Given the description of an element on the screen output the (x, y) to click on. 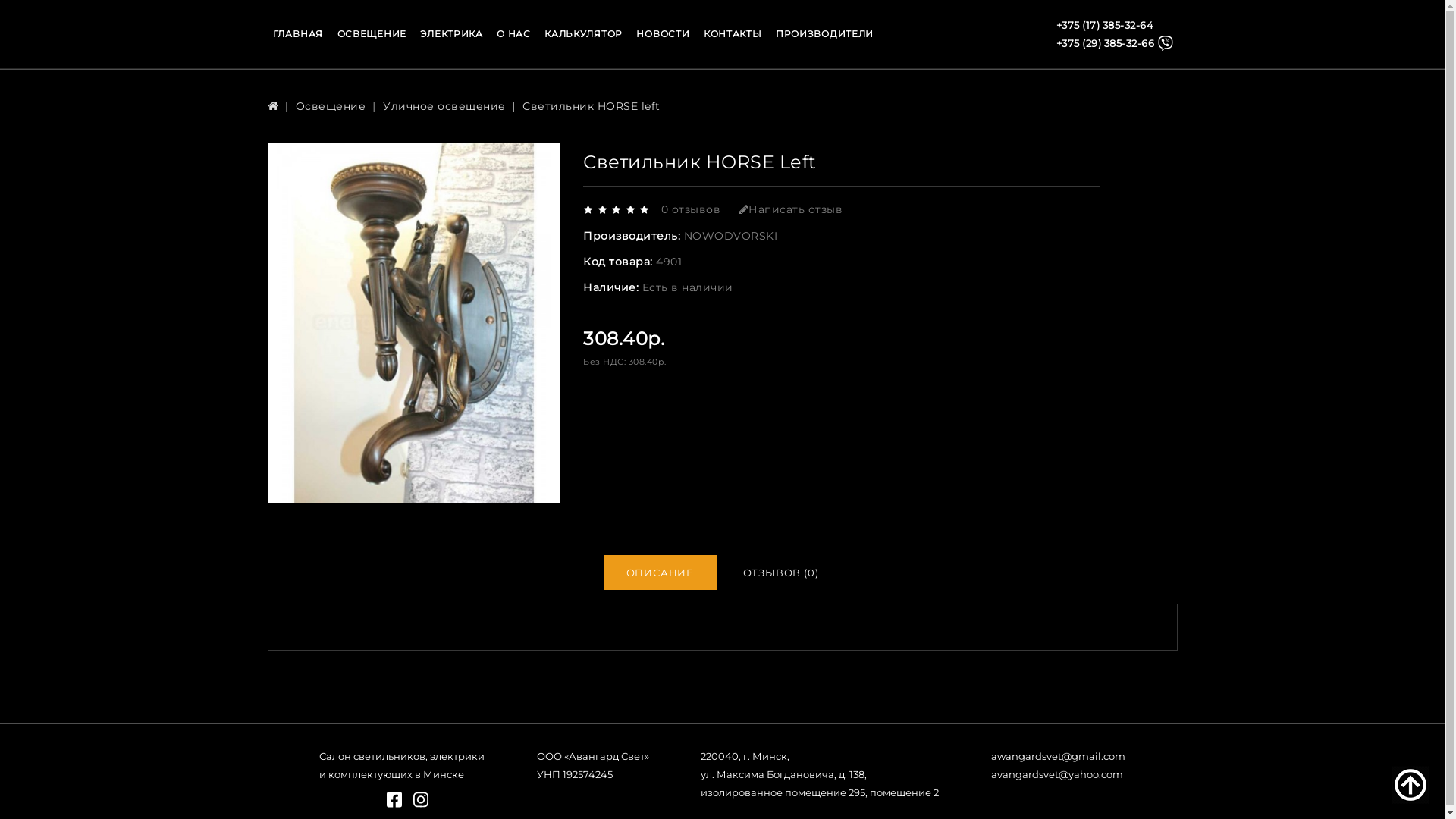
awangardsvet@gmail.com Element type: text (1058, 755)
avangardsvet@yahoo.com Element type: text (1057, 774)
+375 (29) 385-32-66 Element type: text (1115, 43)
+375 (17) 385-32-64 Element type: text (1115, 24)
TOP Element type: text (1410, 784)
